Given the description of an element on the screen output the (x, y) to click on. 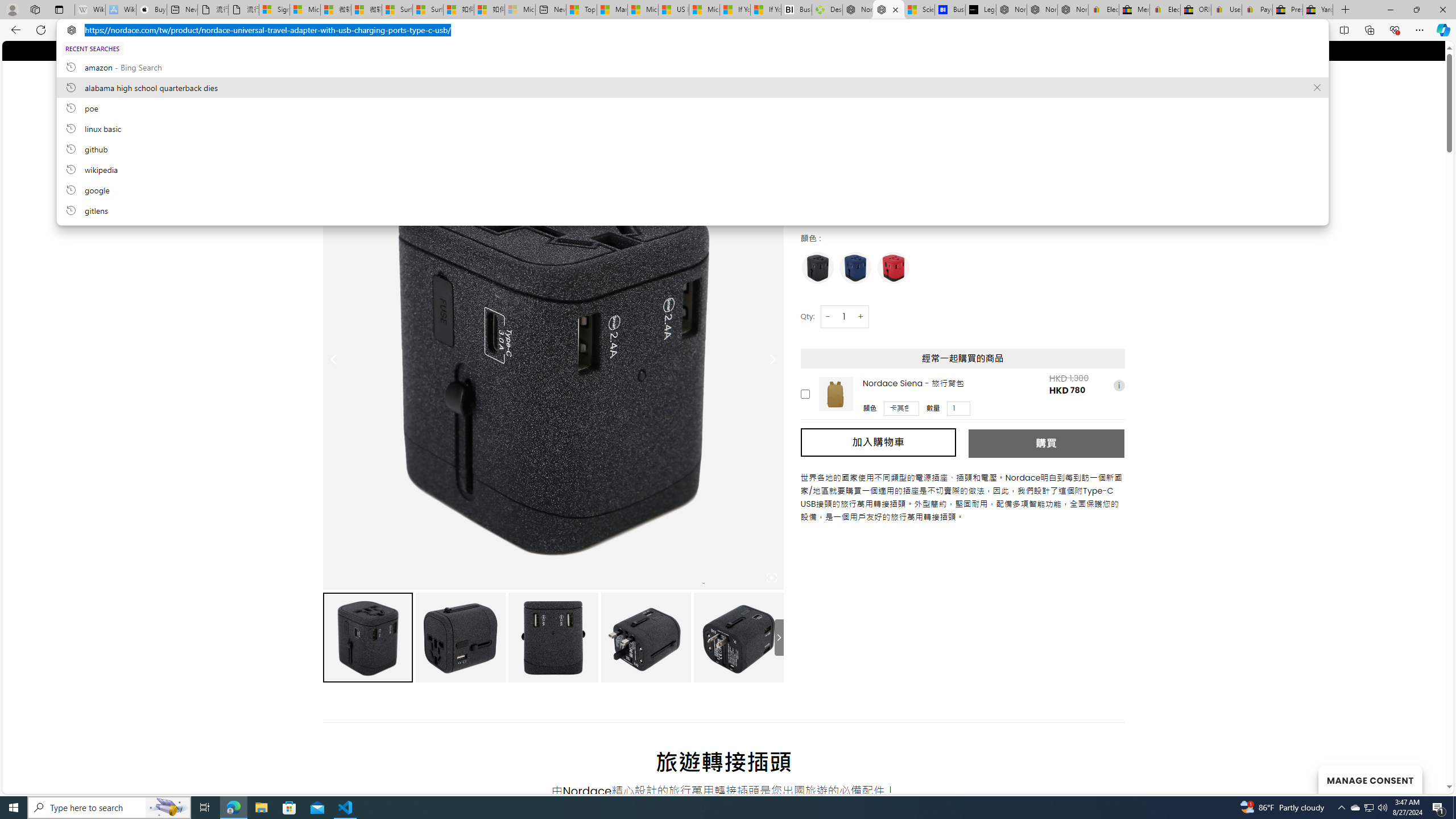
Sign in to your Microsoft account (274, 9)
Follow on YouTube (371, 50)
Follow on Pinterest (360, 50)
User Privacy Notice | eBay (1226, 9)
Add this product to cart (804, 393)
Follow on Instagram (338, 50)
